Given the description of an element on the screen output the (x, y) to click on. 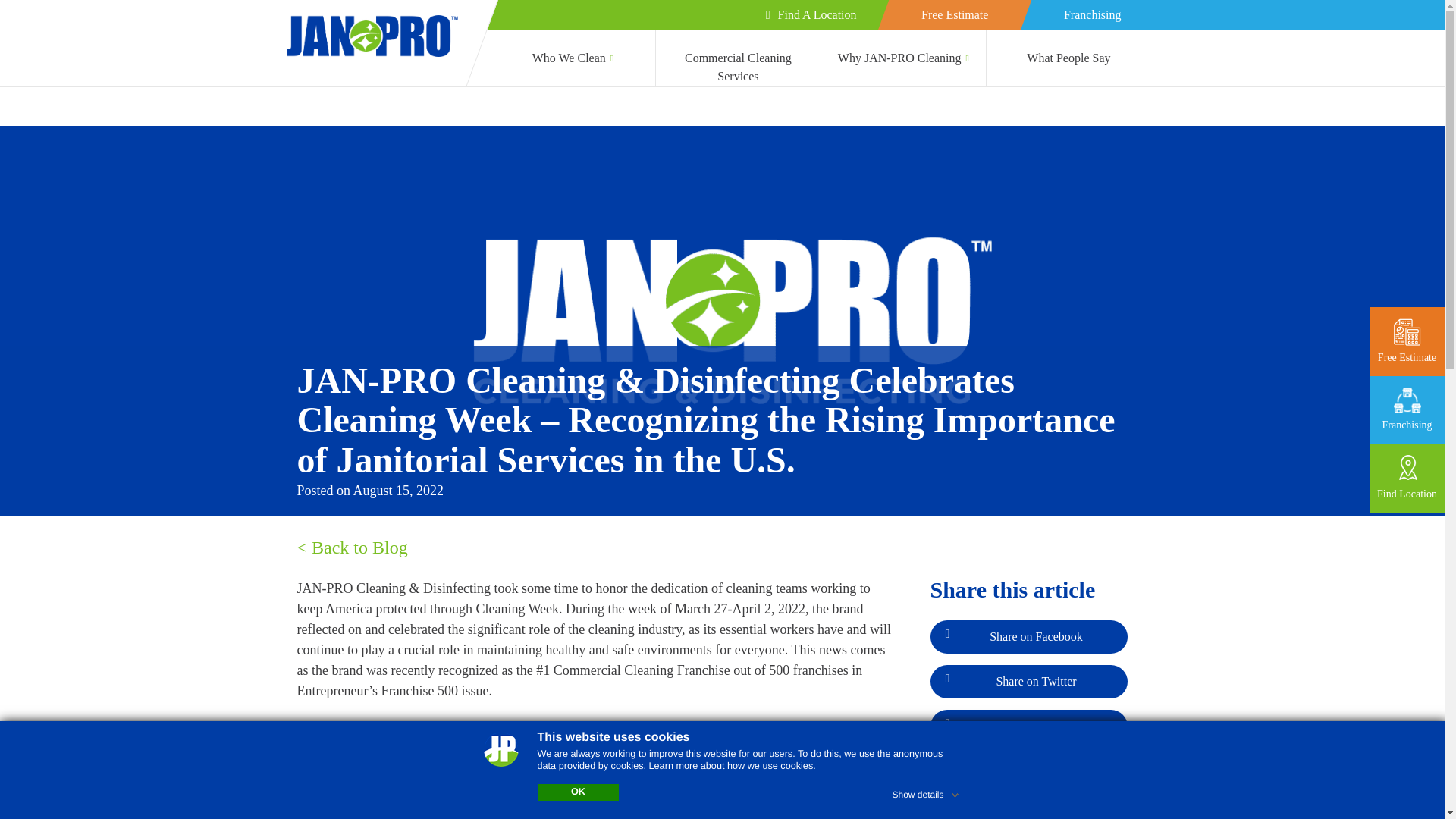
Show details (925, 791)
OK (578, 791)
Learn more about how we use cookies.  (733, 765)
